Given the description of an element on the screen output the (x, y) to click on. 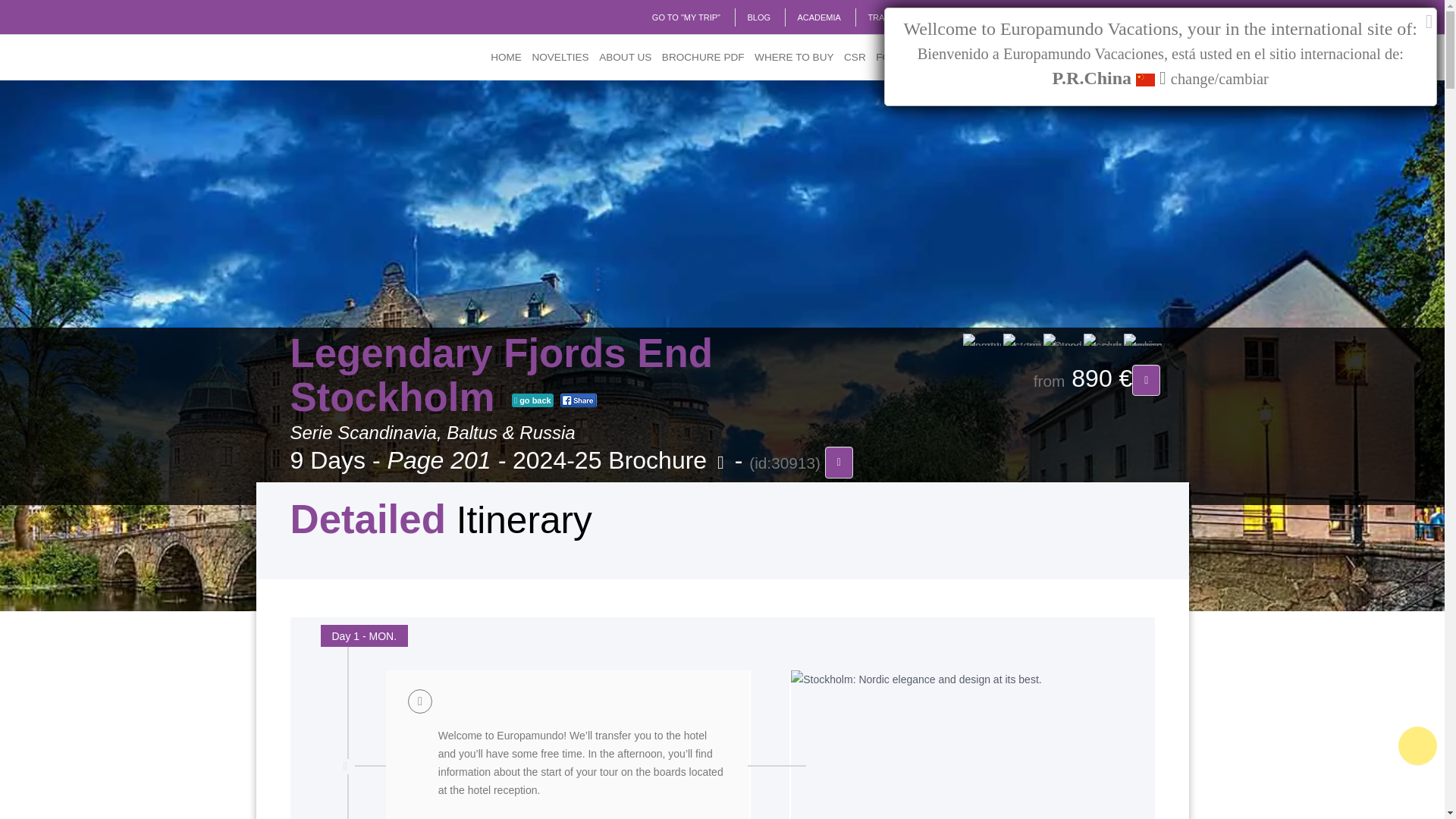
Tours in English (1033, 17)
ACADEMIA (818, 17)
NOVELTIES (559, 57)
GO TO "MY TRIP" (686, 17)
WHERE TO BUY (794, 57)
BROCHURE PDF (703, 57)
P.R.China (1130, 17)
ABOUT US (625, 57)
BLOG (758, 17)
TRAVEL AGENCIES LOGIN (919, 17)
